Given the description of an element on the screen output the (x, y) to click on. 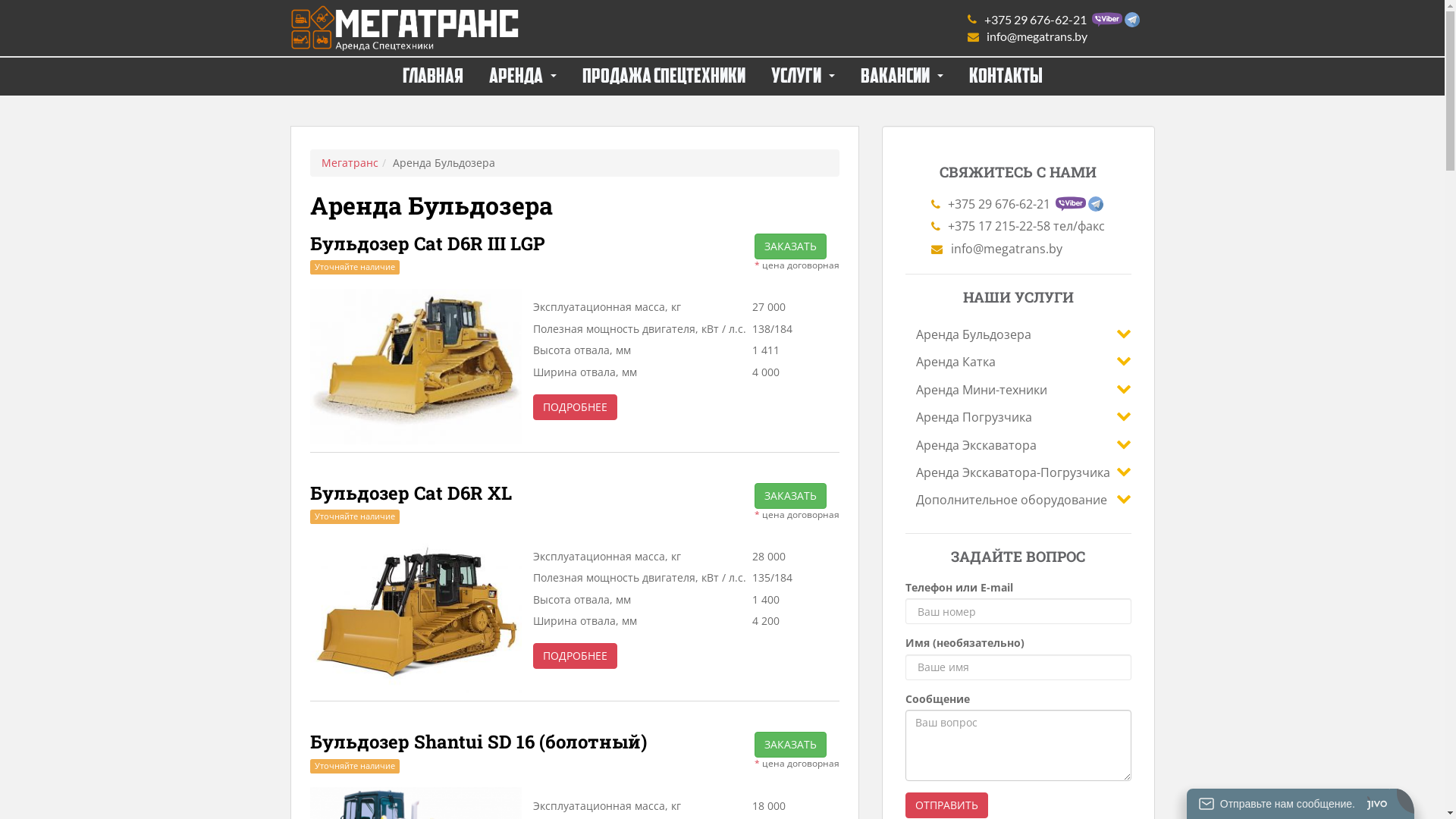
info@megatrans.by Element type: text (1053, 36)
+375 29 676-62-21 Element type: text (1053, 19)
+375 29 676-62-21 Element type: text (1017, 203)
info@megatrans.by Element type: text (1017, 248)
